Given the description of an element on the screen output the (x, y) to click on. 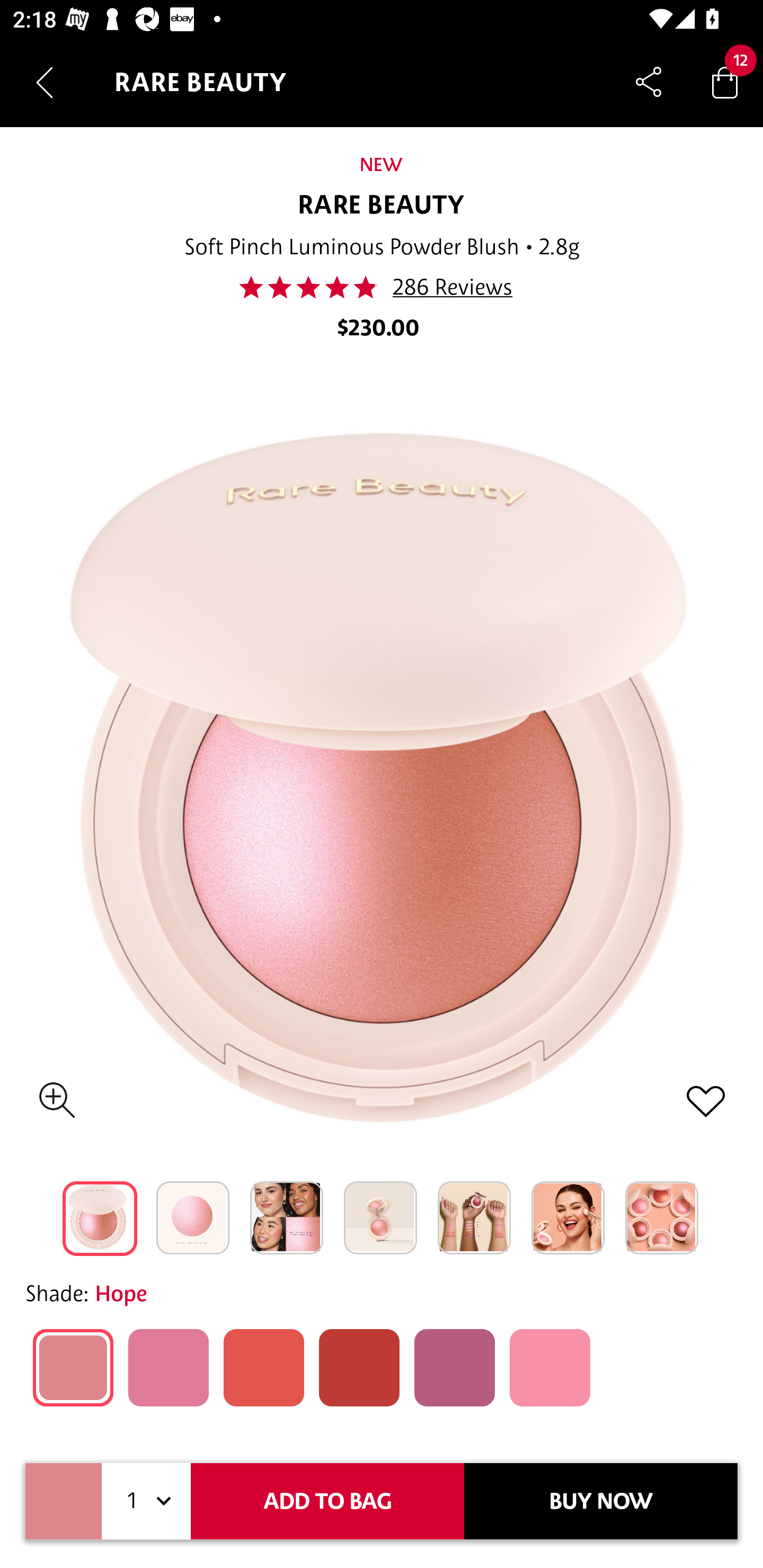
Navigate up (44, 82)
Share (648, 81)
Bag (724, 81)
RARE BEAUTY (381, 205)
48.0 286 Reviews (380, 286)
1 (145, 1500)
ADD TO BAG (326, 1500)
BUY NOW (600, 1500)
